Given the description of an element on the screen output the (x, y) to click on. 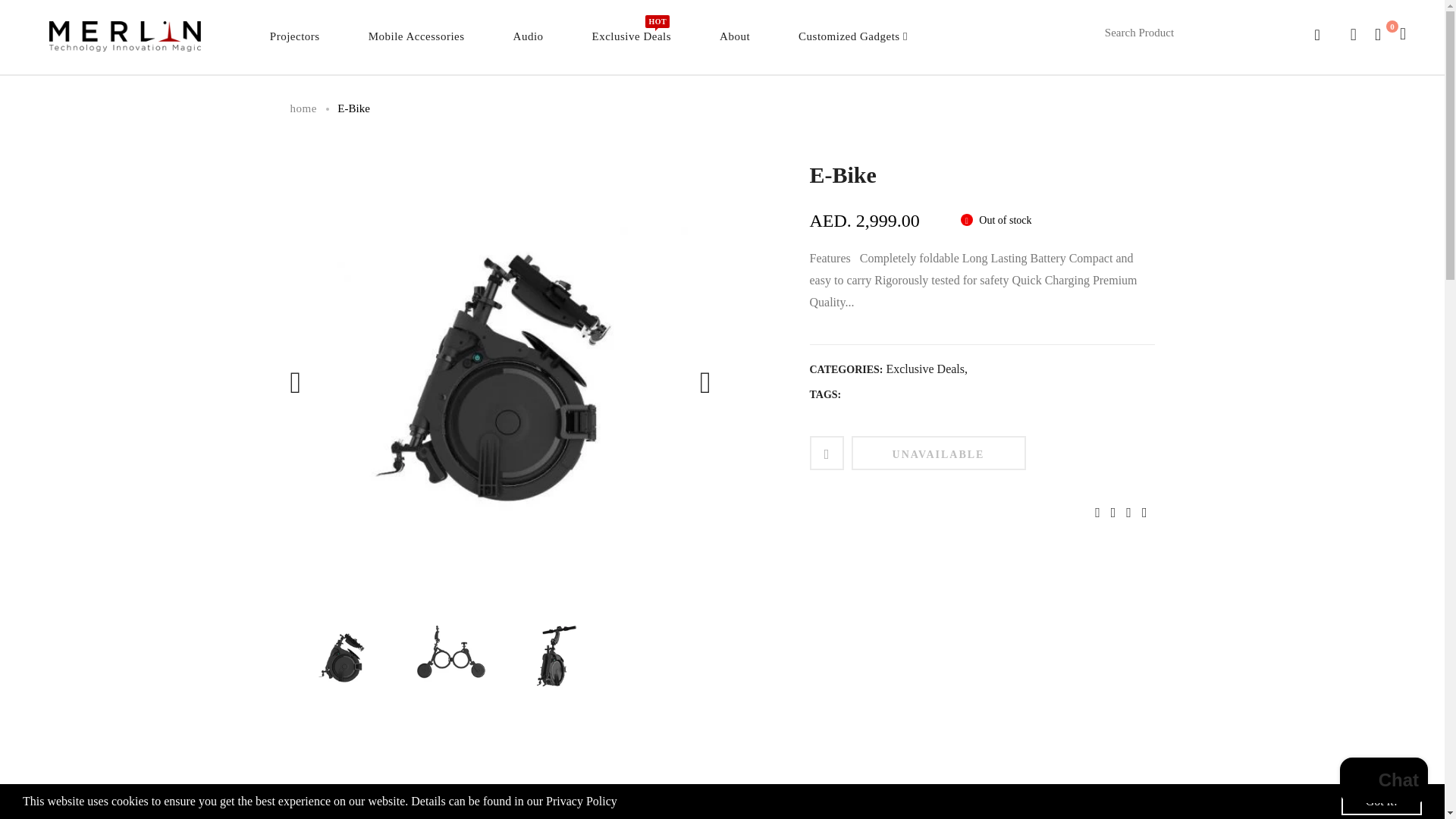
UNAVAILABLE (937, 452)
Customized Gadgets (631, 43)
Exclusive Deals, (852, 43)
Projectors (926, 368)
home (294, 43)
Customized Gadgets (302, 108)
Back to the frontpage (852, 43)
Mobile Accessories (302, 108)
Add to wishlist (416, 43)
